Given the description of an element on the screen output the (x, y) to click on. 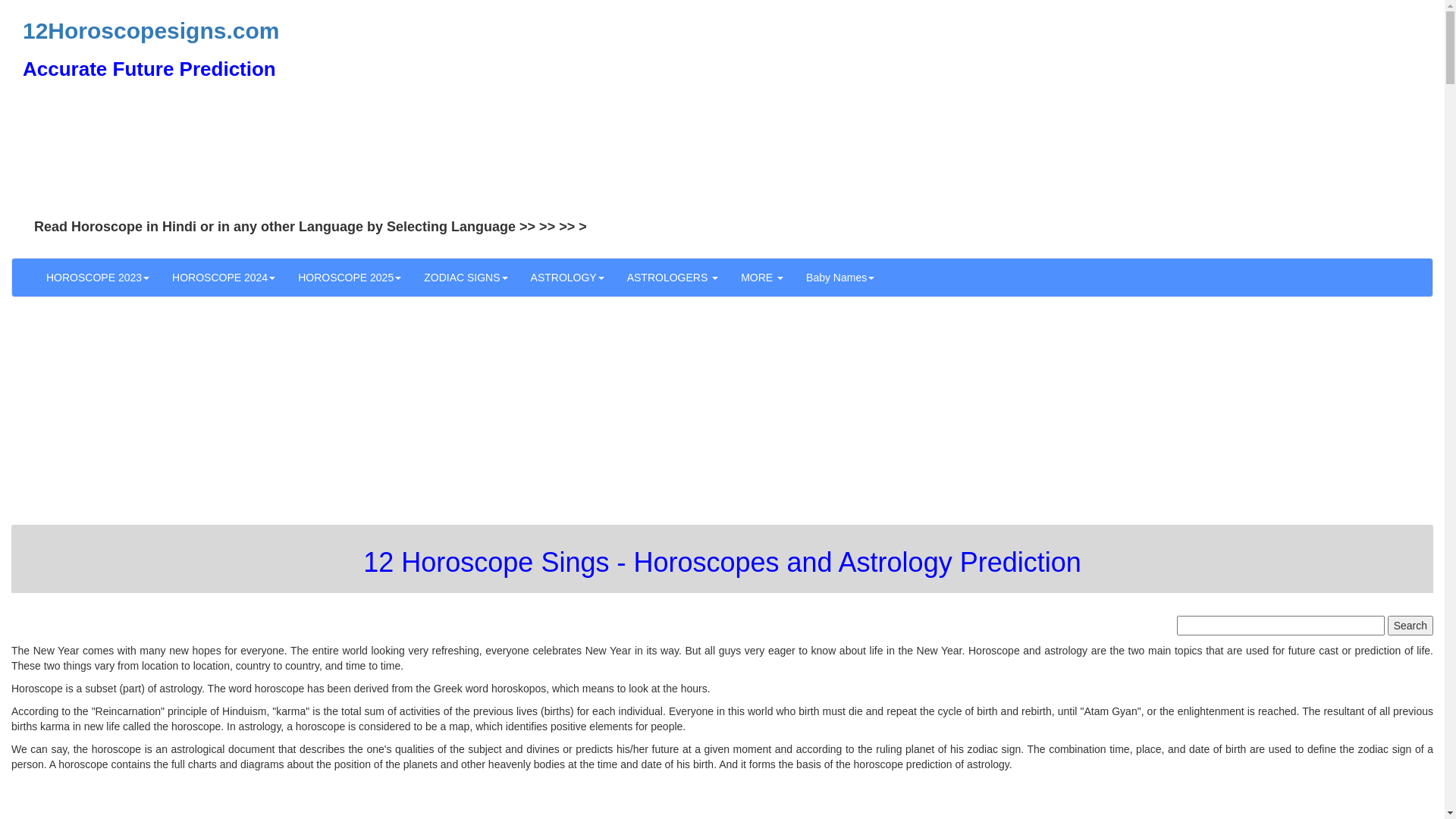
HOROSCOPE 2024 Element type: text (223, 277)
HOROSCOPE 2023 Element type: text (97, 277)
ASTROLOGERS Element type: text (672, 277)
Advertisement Element type: hover (951, 106)
ASTROLOGY Element type: text (567, 277)
Advertisement Element type: hover (466, 418)
ZODIAC SIGNS Element type: text (465, 277)
MORE Element type: text (761, 277)
Baby Names Element type: text (839, 277)
HOROSCOPE 2025 Element type: text (349, 277)
Search Element type: text (1410, 625)
